Given the description of an element on the screen output the (x, y) to click on. 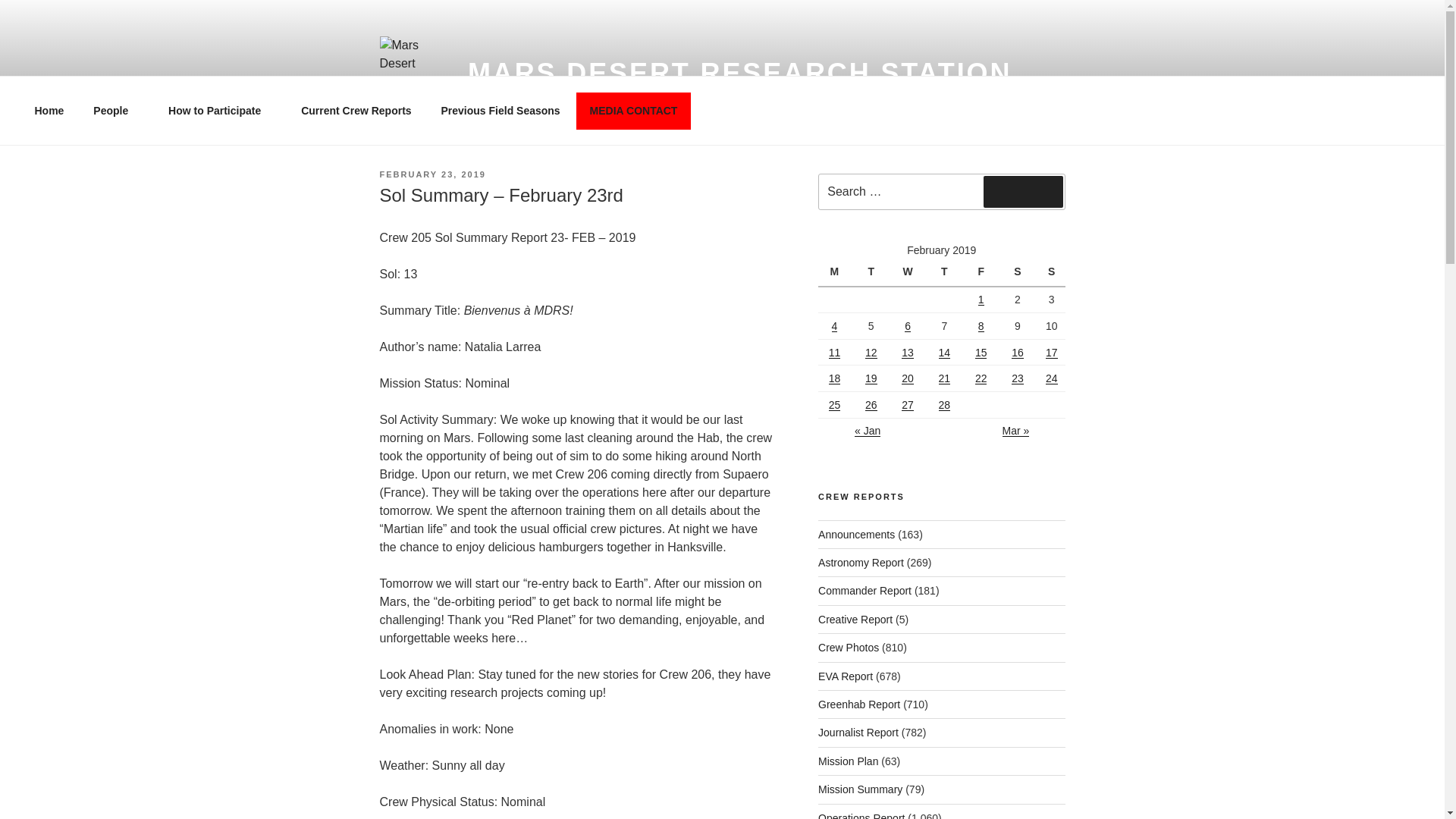
Wednesday (909, 272)
17 (1051, 351)
MEDIA CONTACT (633, 110)
How to Participate (220, 110)
MARS DESERT RESEARCH STATION (739, 72)
19 (870, 378)
Tuesday (872, 272)
14 (944, 351)
21 (944, 378)
Saturday (1019, 272)
